Given the description of an element on the screen output the (x, y) to click on. 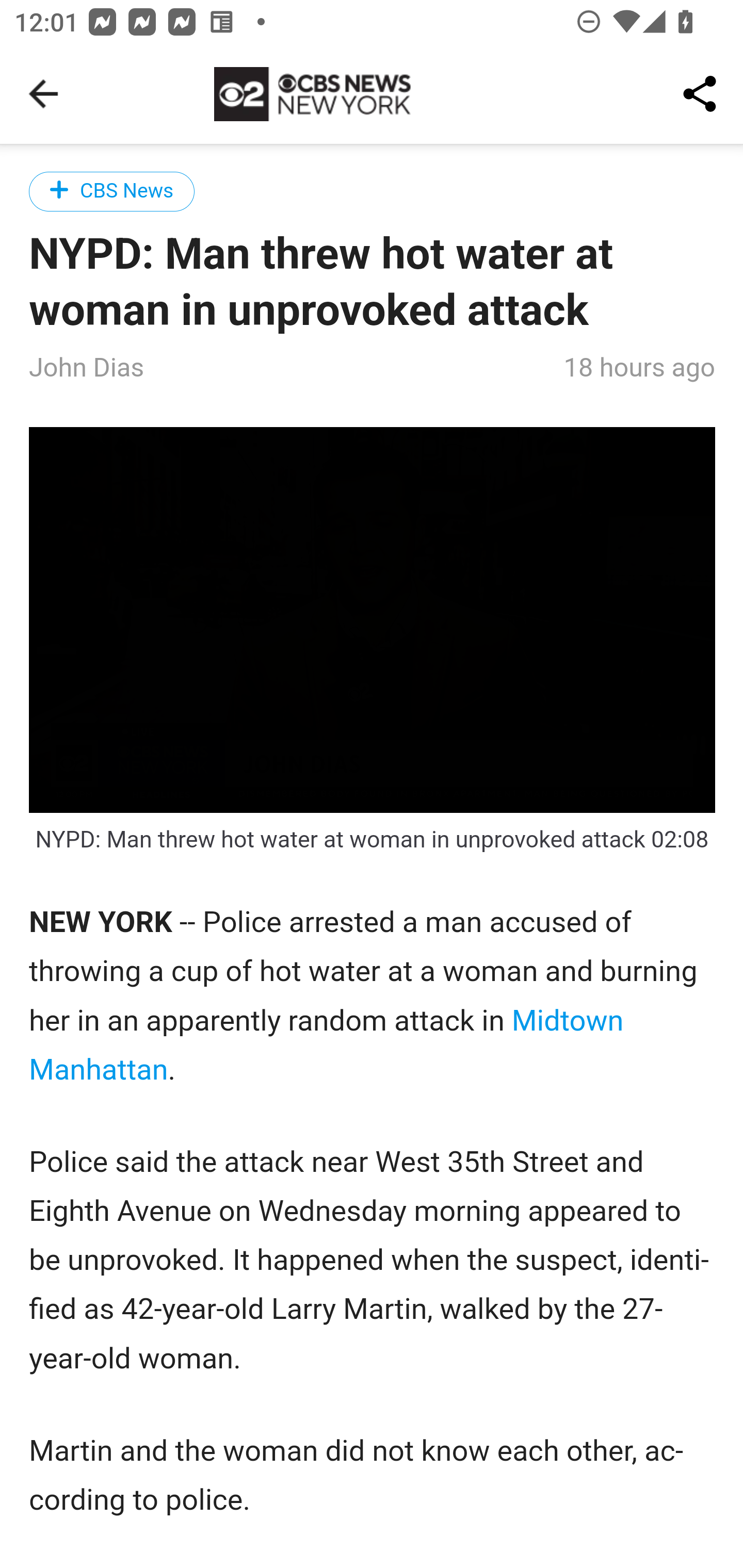
CBS News (112, 191)
Midtown Manhattan (326, 1045)
